Given the description of an element on the screen output the (x, y) to click on. 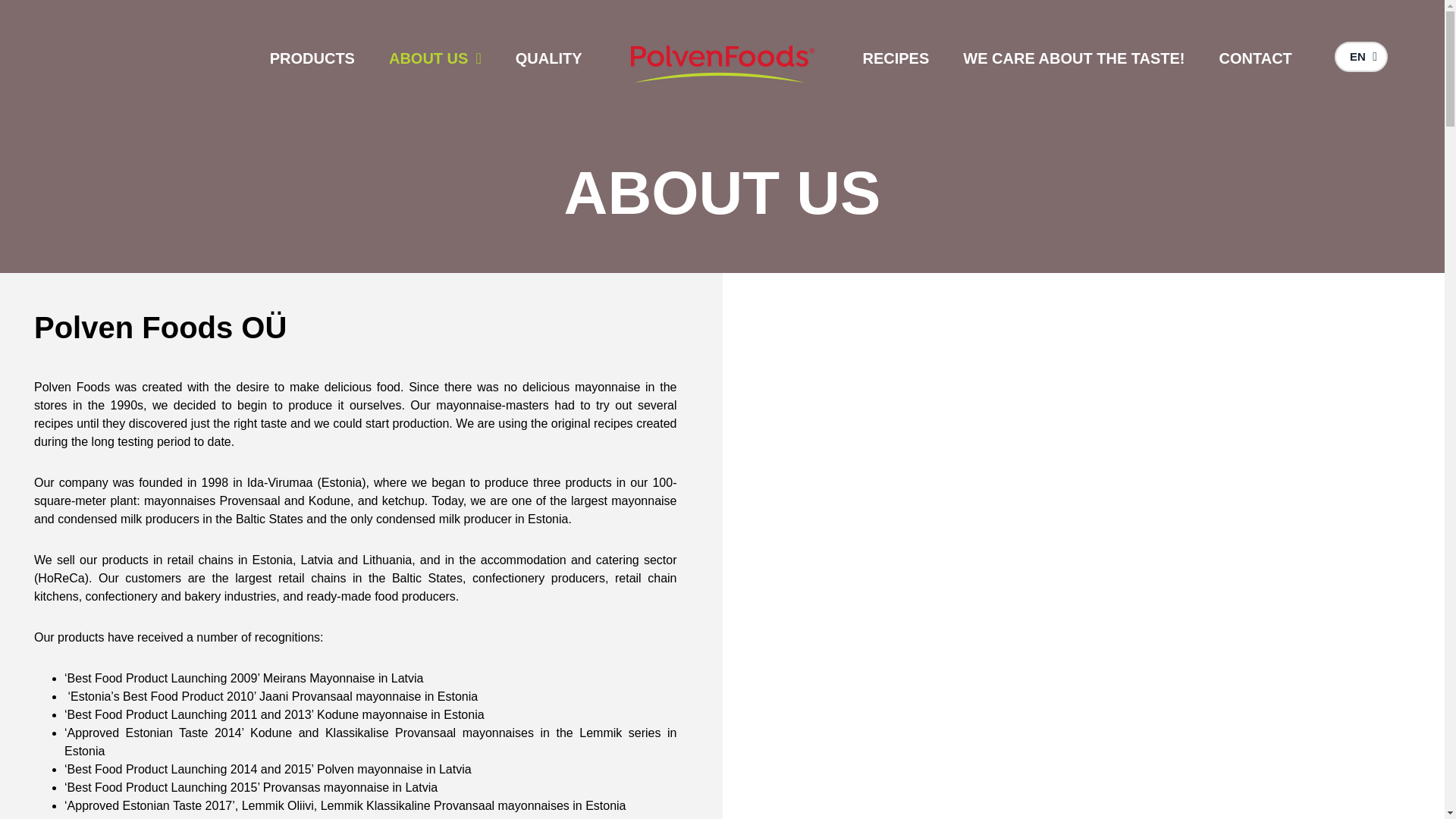
ABOUT US (434, 58)
CONTACT (1256, 58)
EN (1361, 56)
WE CARE ABOUT THE TASTE! (1073, 58)
PRODUCTS (312, 58)
RECIPES (896, 58)
QUALITY (548, 58)
